Given the description of an element on the screen output the (x, y) to click on. 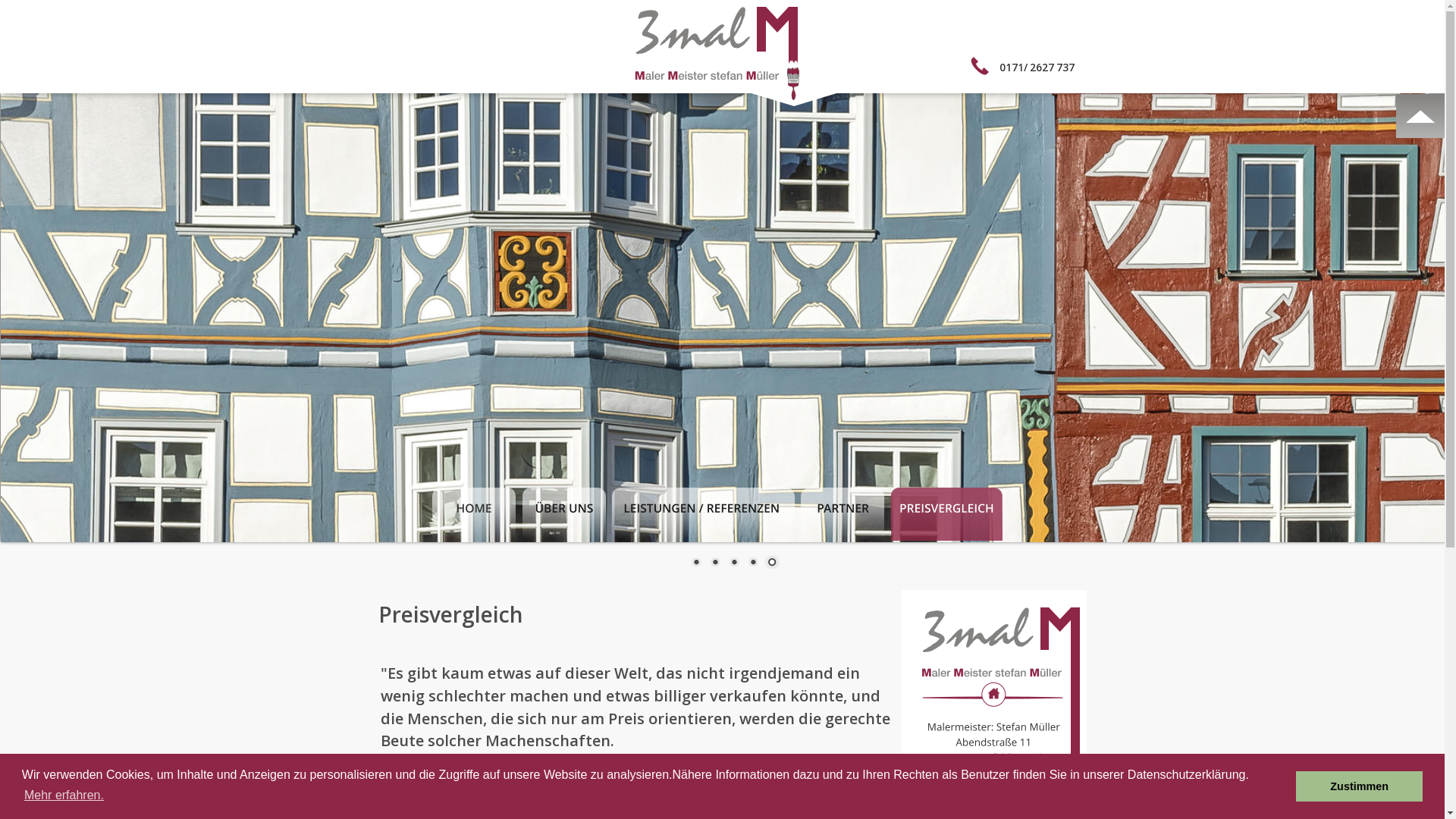
5 Element type: text (770, 563)
4 Element type: text (752, 563)
/ Element type: text (1025, 67)
26 Element type: text (1035, 67)
3 Element type: text (732, 563)
27 Element type: text (1047, 67)
Mehr erfahren. Element type: text (63, 795)
1 Element type: text (695, 563)
737 Element type: text (1065, 67)
Zustimmen Element type: text (1358, 786)
0171 Element type: text (1011, 67)
2 Element type: text (714, 563)
